Given the description of an element on the screen output the (x, y) to click on. 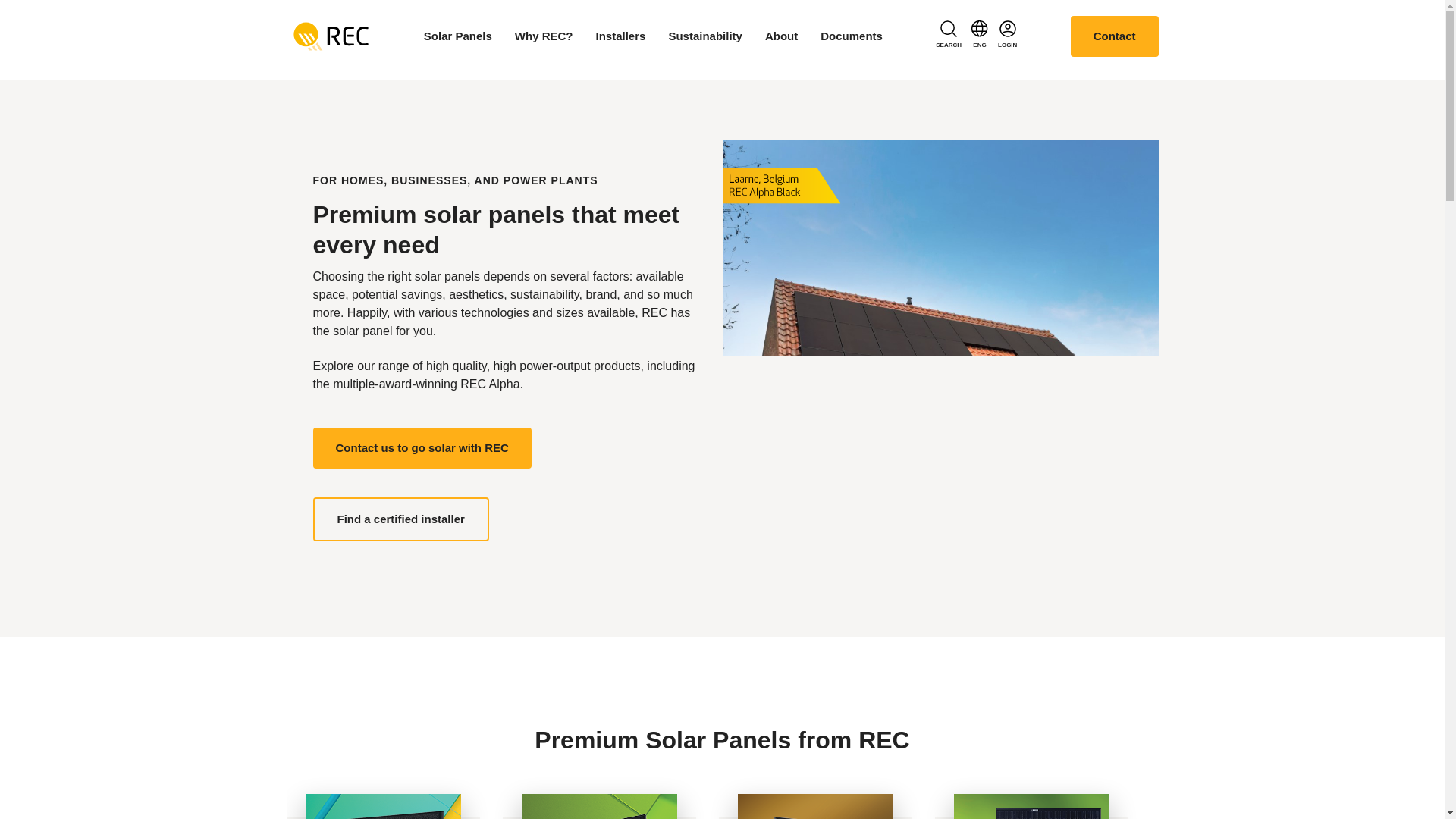
Sustainability (705, 35)
Why REC? (544, 35)
Installers (620, 35)
About (781, 35)
Home (330, 34)
Solar Panels (457, 35)
